Given the description of an element on the screen output the (x, y) to click on. 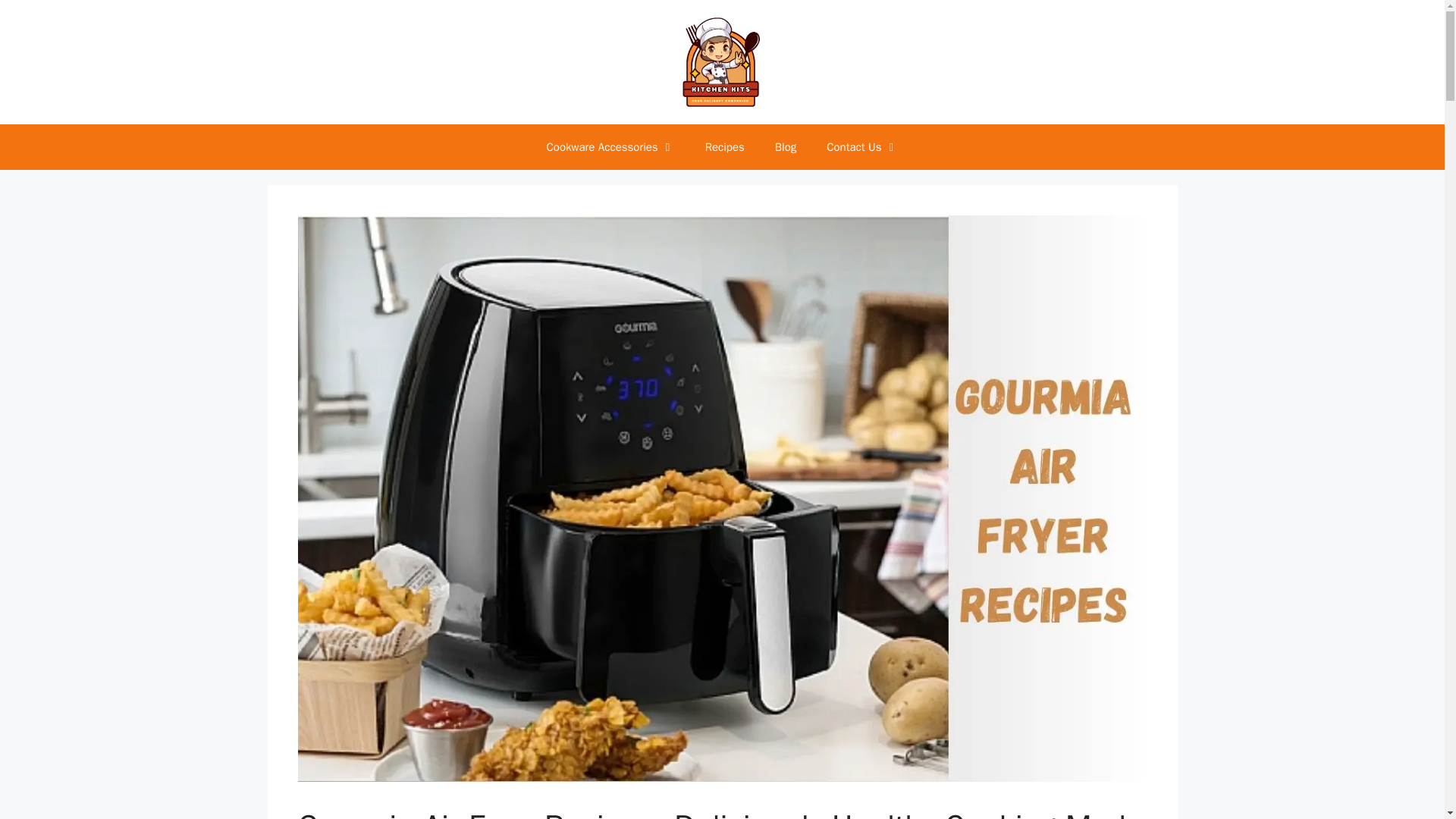
Contact Us (861, 146)
Blog (785, 146)
Recipes (725, 146)
Cookware Accessories (610, 146)
